Given the description of an element on the screen output the (x, y) to click on. 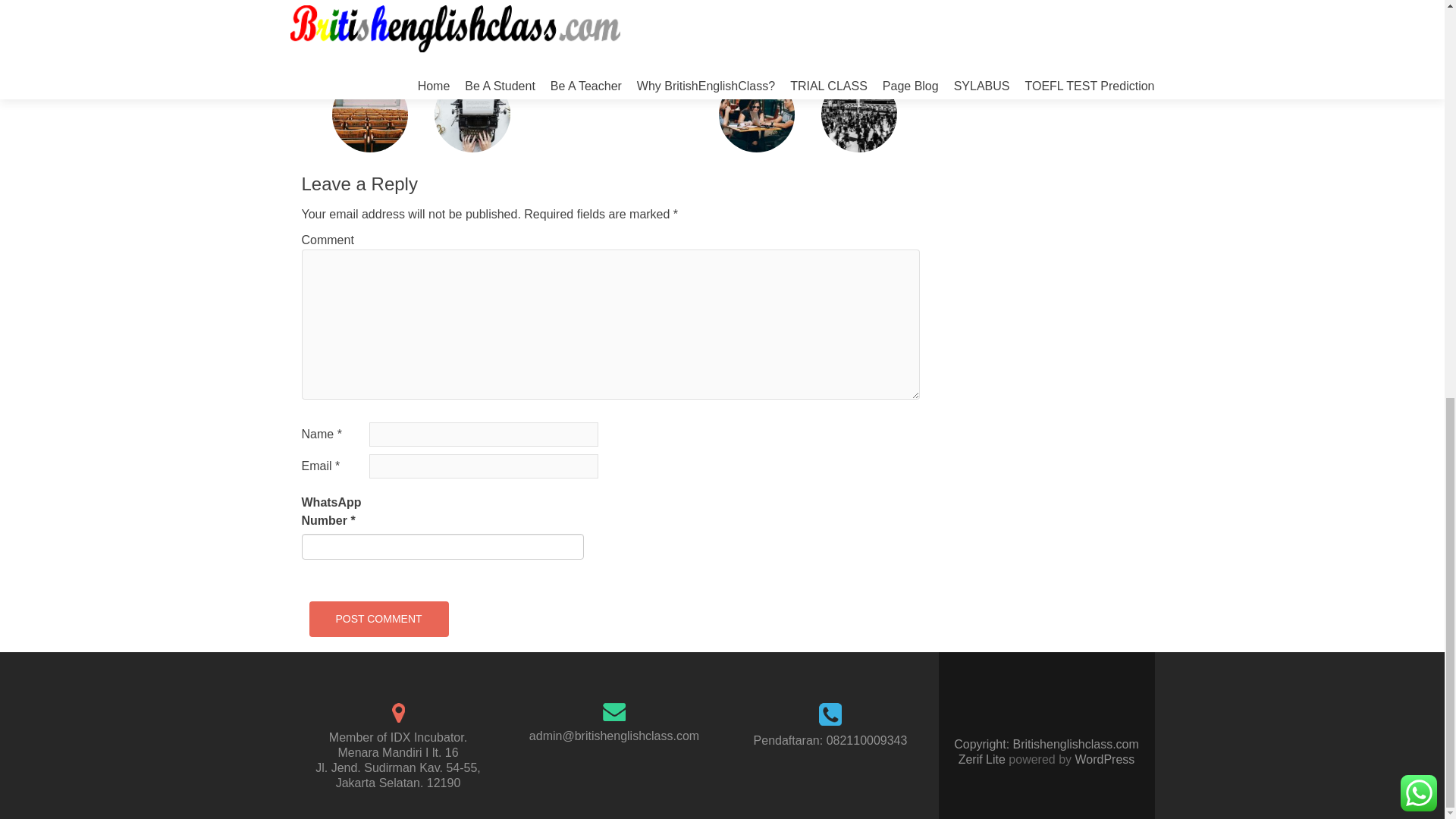
WordPress (1102, 758)
Tutor Note About Us (489, 20)
Post Comment (378, 619)
Pendaftaran: 082110009343 (830, 739)
Post Comment (378, 619)
permalink (656, 20)
Zerif Lite (983, 758)
